Given the description of an element on the screen output the (x, y) to click on. 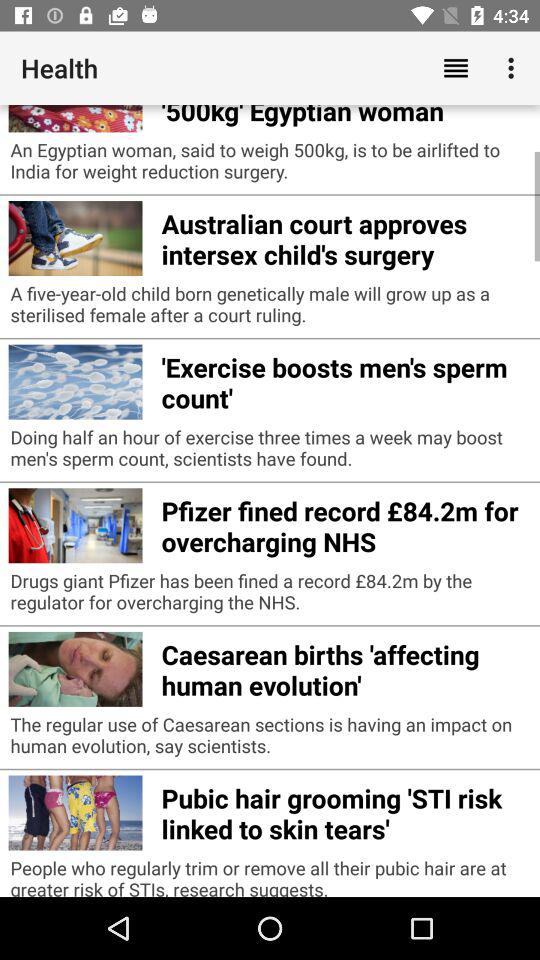
launch the a five year icon (270, 309)
